Given the description of an element on the screen output the (x, y) to click on. 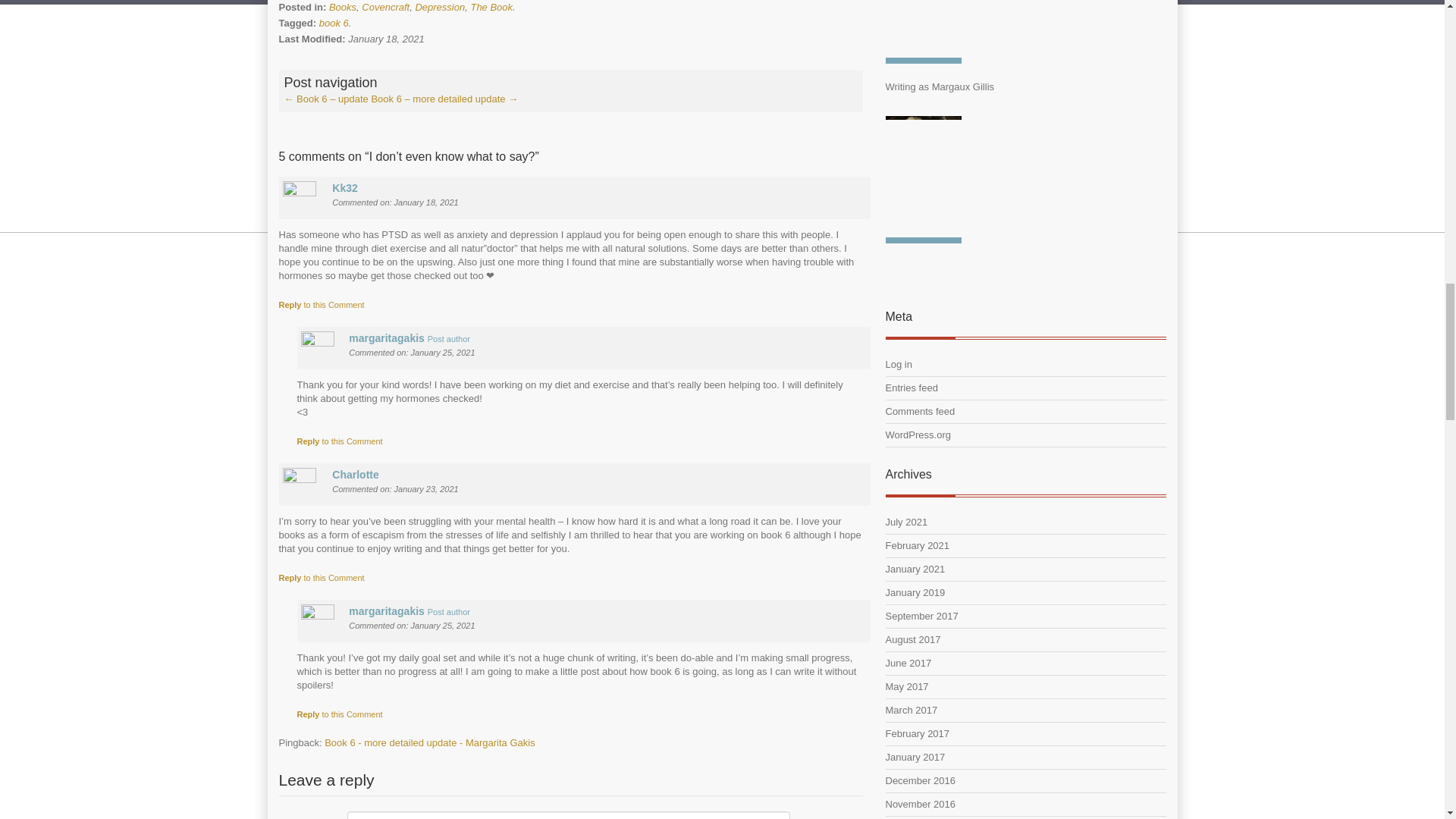
Depression (439, 7)
Reply to this Comment (322, 304)
Books (342, 7)
book 6 (333, 22)
Reply to this Comment (339, 440)
Covencraft (385, 7)
The Book (491, 7)
